Given the description of an element on the screen output the (x, y) to click on. 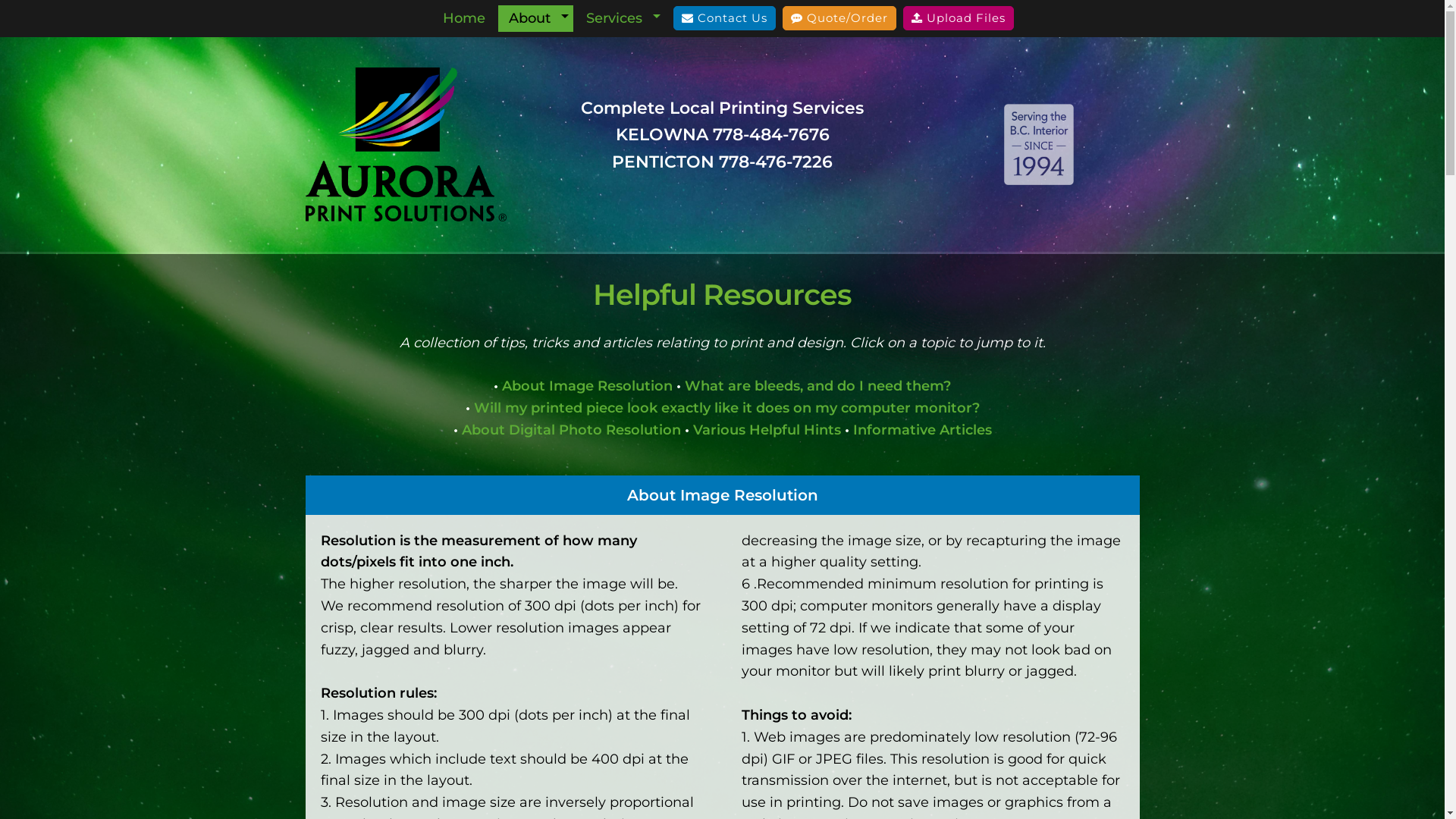
Quote/Order Element type: text (839, 18)
What are bleeds, and do I need them? Element type: text (817, 385)
About Digital Photo Resolution Element type: text (570, 429)
Informative Articles Element type: text (921, 429)
Contact Us Element type: text (724, 18)
Celebrating 28 Years Serving the Interior of B.C. Element type: hover (1039, 144)
Upload Files Element type: text (958, 18)
About Image Resolution Element type: text (587, 385)
Aurora Print Solutions logo Element type: hover (404, 144)
Home Element type: text (464, 18)
Various Helpful Hints Element type: text (766, 429)
About Element type: text (529, 18)
Services Element type: text (613, 18)
